Given the description of an element on the screen output the (x, y) to click on. 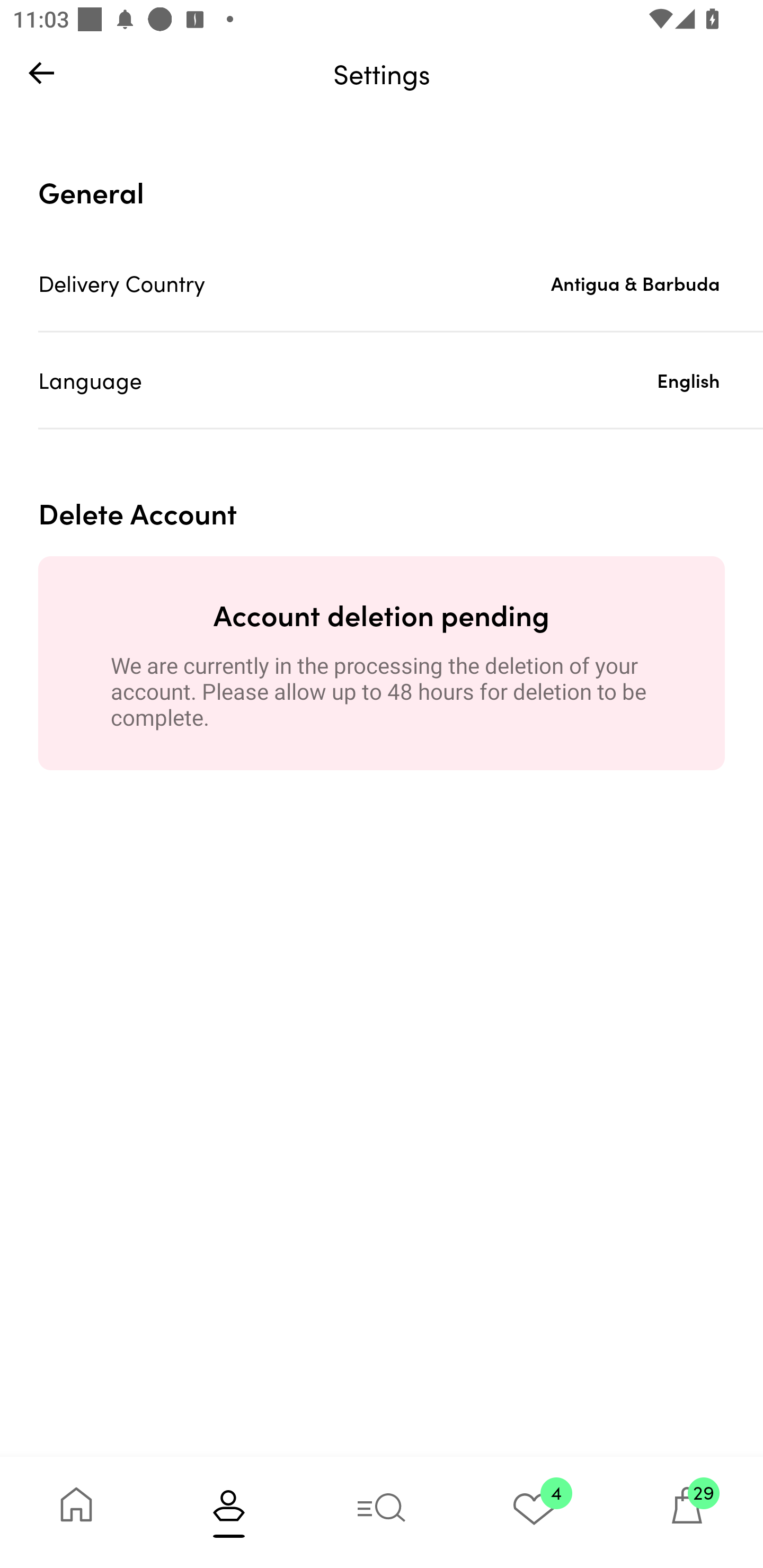
Delivery Country Antigua & Barbuda (400, 282)
Language English (400, 380)
4 (533, 1512)
29 (686, 1512)
